Given the description of an element on the screen output the (x, y) to click on. 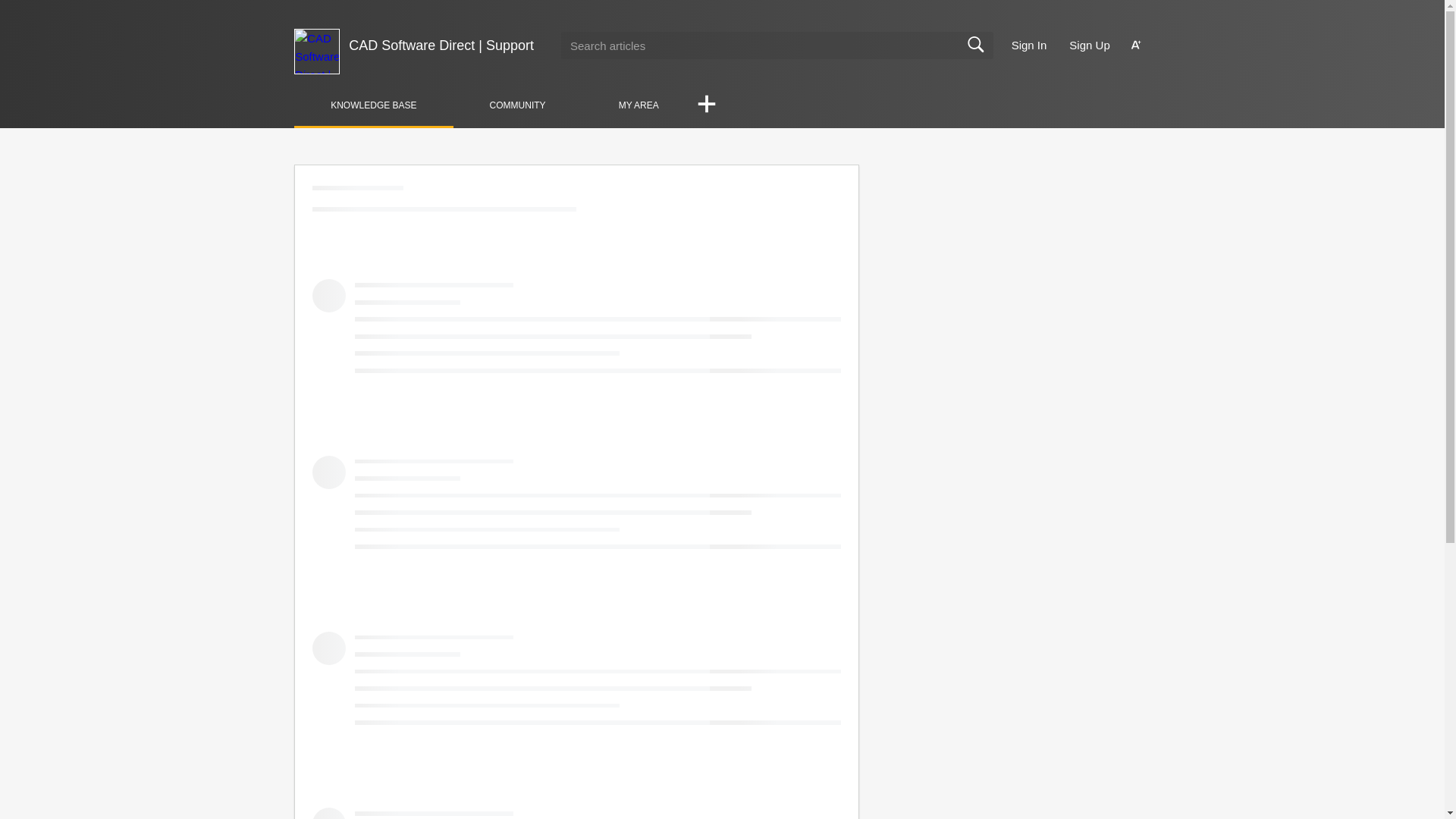
My Area (638, 104)
MY AREA (638, 104)
Sign In (1028, 45)
Knowledge Base (373, 104)
COMMUNITY (517, 104)
Community (517, 104)
Search (975, 44)
KNOWLEDGE BASE (373, 104)
Sign Up (1088, 45)
